Given the description of an element on the screen output the (x, y) to click on. 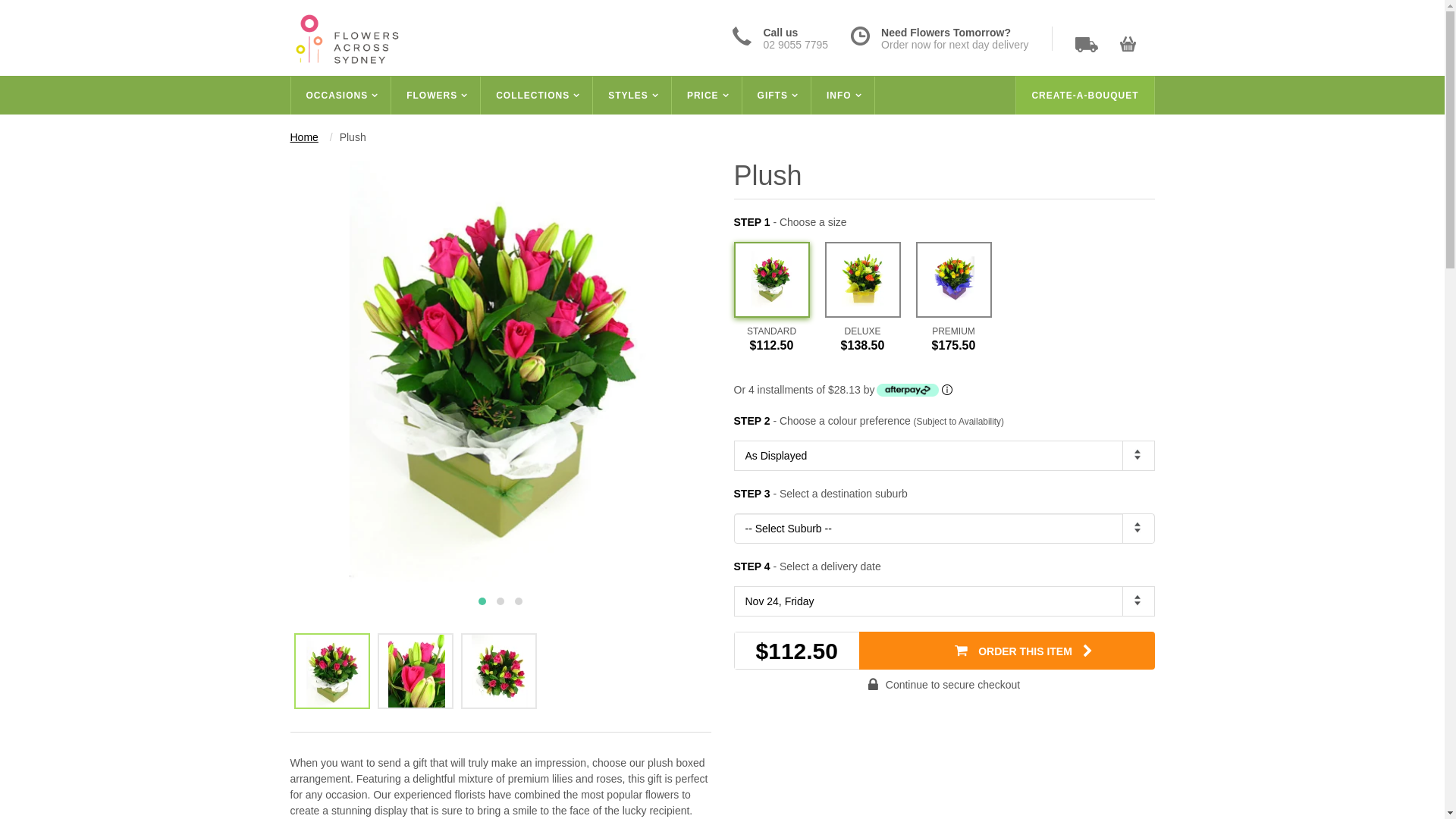
COLLECTIONS Element type: text (536, 95)
FLOWERS Element type: text (435, 95)
OCCASIONS Element type: text (340, 95)
INFO Element type: text (843, 95)
$112.50
ORDER THIS ITEM Element type: text (944, 650)
STYLES Element type: text (632, 95)
CREATE-A-BOUQUET Element type: text (1084, 95)
PRICE Element type: text (706, 95)
Home Element type: text (303, 137)
GIFTS Element type: text (776, 95)
